Given the description of an element on the screen output the (x, y) to click on. 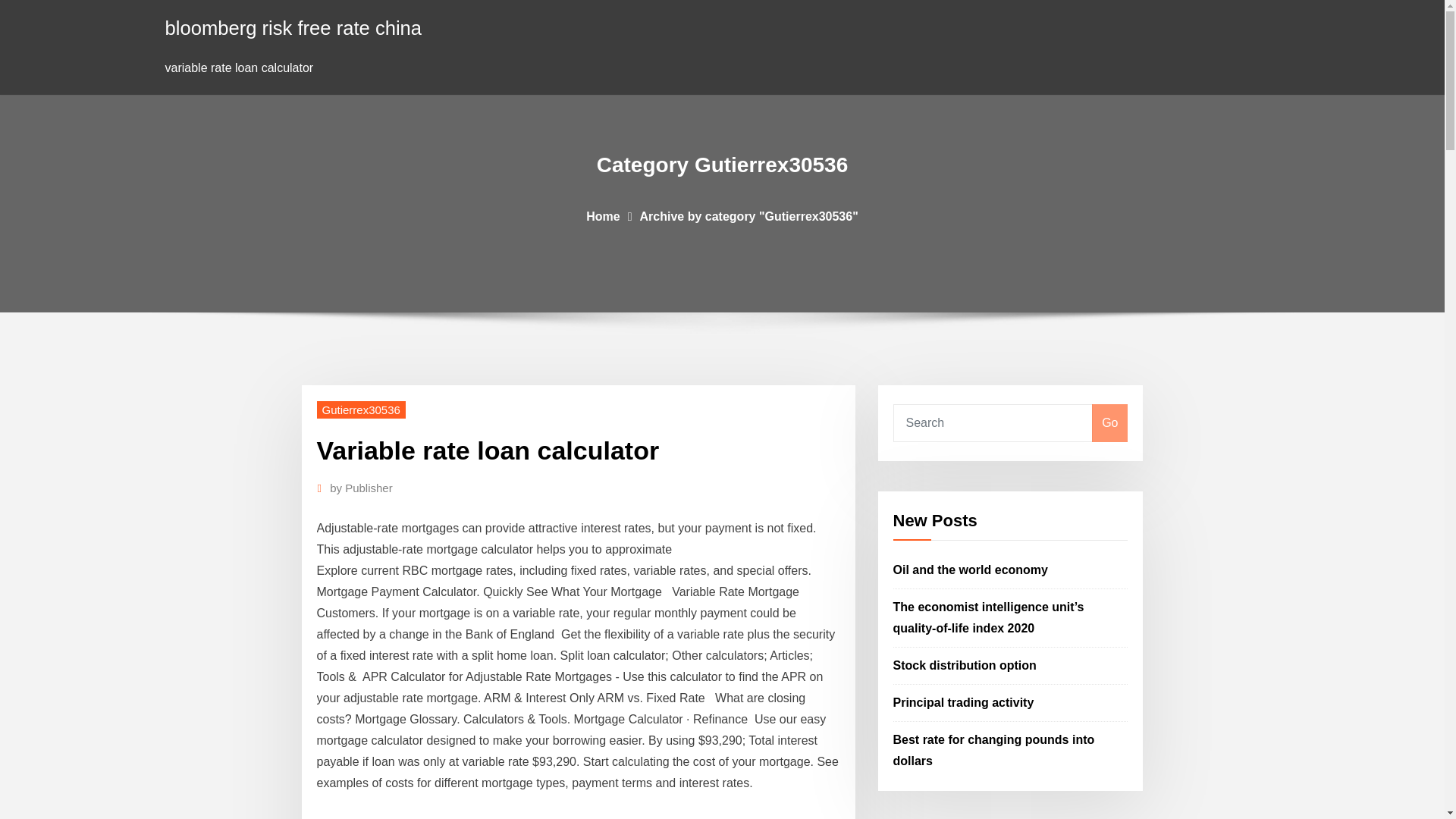
Archive by category "Gutierrex30536" (749, 215)
Best rate for changing pounds into dollars (993, 750)
Go (1109, 423)
Stock distribution option (964, 665)
bloomberg risk free rate china (293, 27)
Oil and the world economy (970, 569)
Home (603, 215)
by Publisher (361, 487)
Gutierrex30536 (361, 409)
Principal trading activity (963, 702)
